Given the description of an element on the screen output the (x, y) to click on. 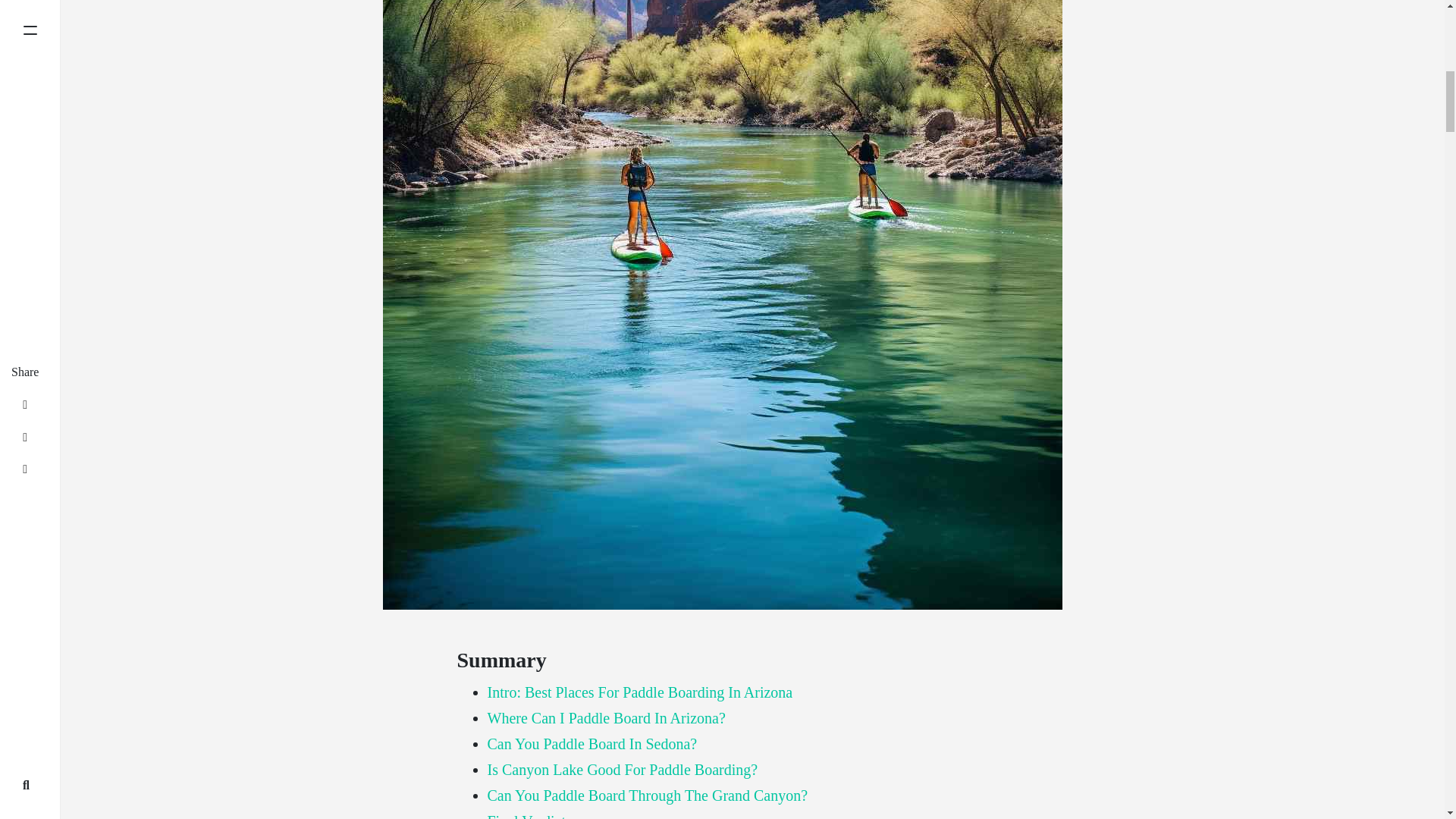
Can You Paddle Board Through The Grand Canyon? (647, 795)
Where Can I Paddle Board In Arizona? (605, 718)
Final Verdict (526, 816)
Can You Paddle Board In Sedona? (591, 743)
Is Canyon Lake Good For Paddle Boarding? (621, 769)
Intro: Best Places For Paddle Boarding In Arizona (639, 692)
